Given the description of an element on the screen output the (x, y) to click on. 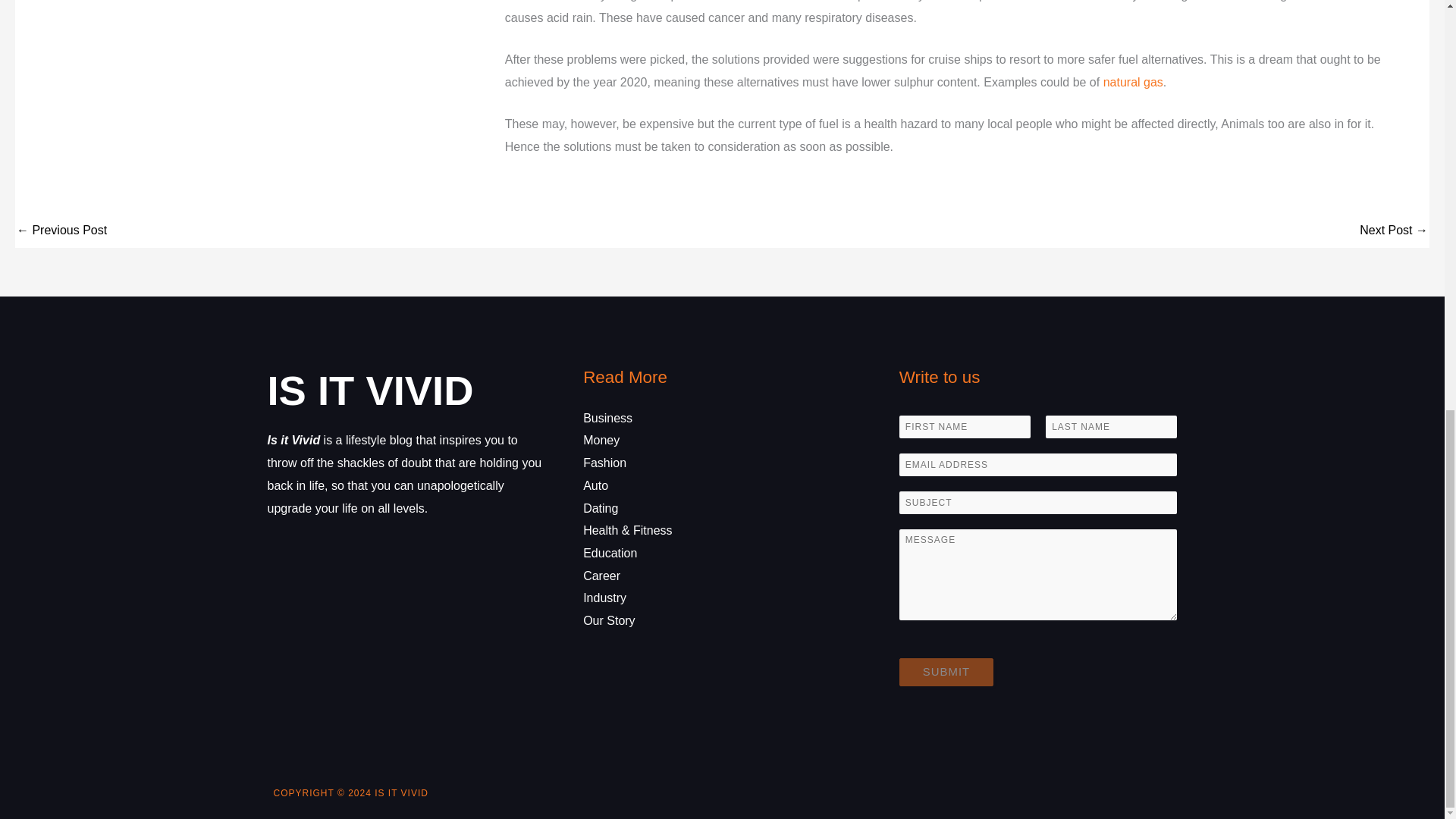
natural gas (1133, 82)
Career (601, 575)
Money (601, 440)
Dating (600, 508)
How to choose tracks that will uplift your soul (1393, 231)
Industry (604, 597)
Auto (595, 485)
Business (607, 418)
Our Story (608, 620)
Education (610, 553)
Best 2 VR Games on PC (61, 231)
Fashion (604, 462)
SUBMIT (945, 672)
